Given the description of an element on the screen output the (x, y) to click on. 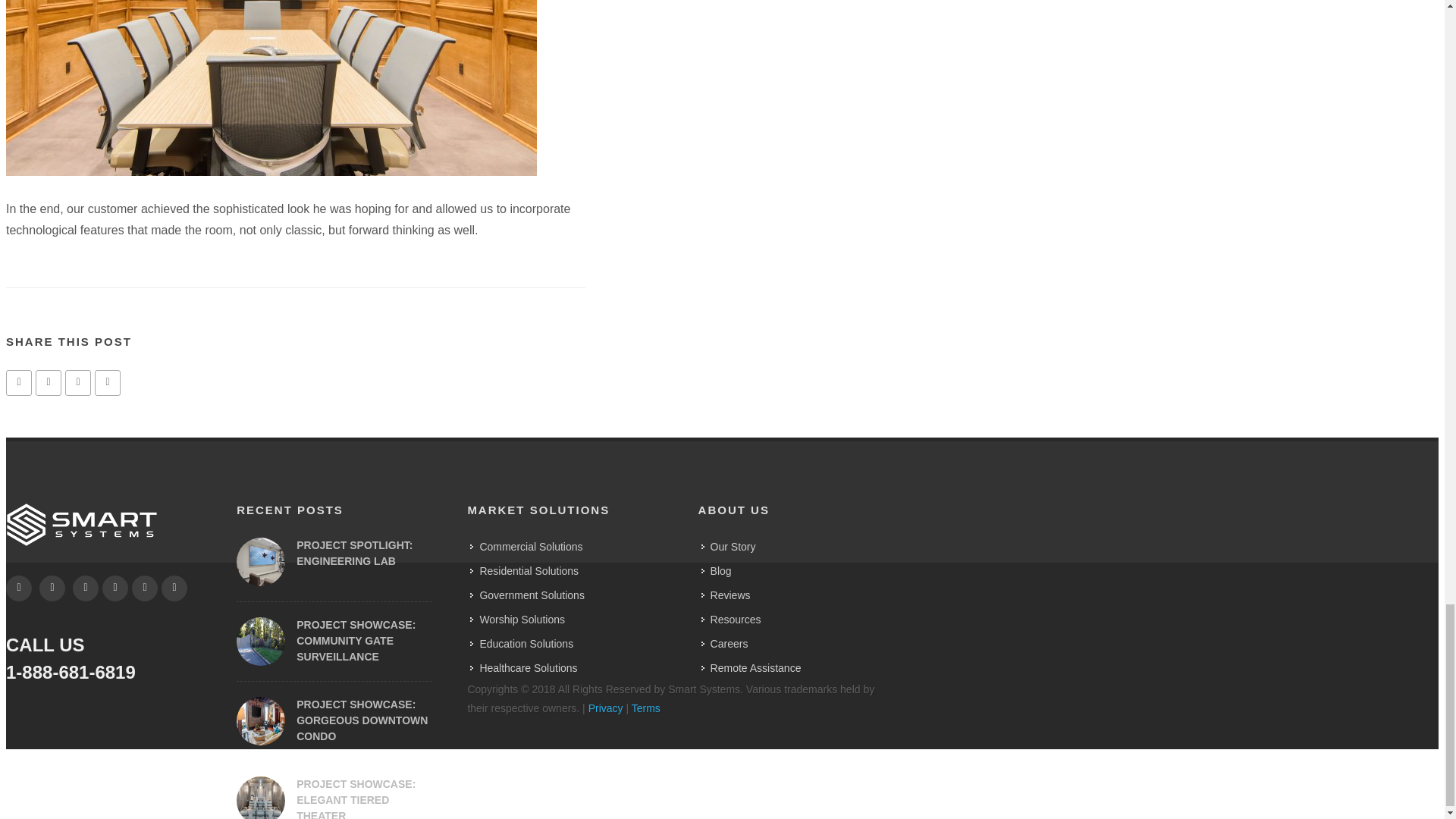
LinkedIn (85, 588)
Instagram (114, 588)
Twitter (144, 588)
Flickr (174, 588)
